Given the description of an element on the screen output the (x, y) to click on. 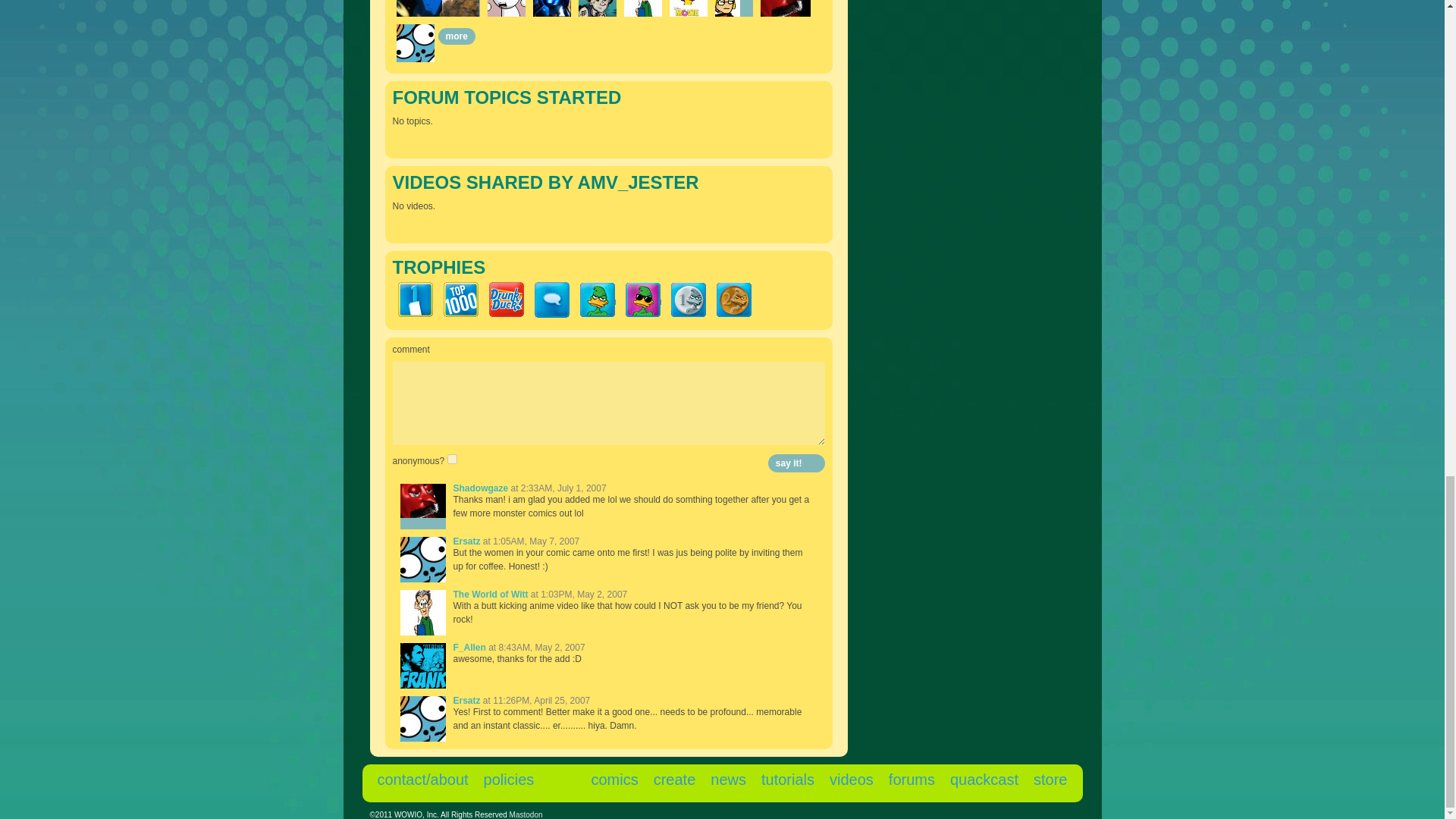
I Hate Dirt (460, 8)
crazyduck (726, 8)
say it! (796, 463)
dgriff13 (596, 8)
Shadowgaze (785, 8)
Ersatz (414, 43)
The World of Witt (642, 8)
1 (451, 459)
ponymon (687, 8)
josif (505, 8)
soulcelshade (430, 8)
Demynx (551, 8)
